Given the description of an element on the screen output the (x, y) to click on. 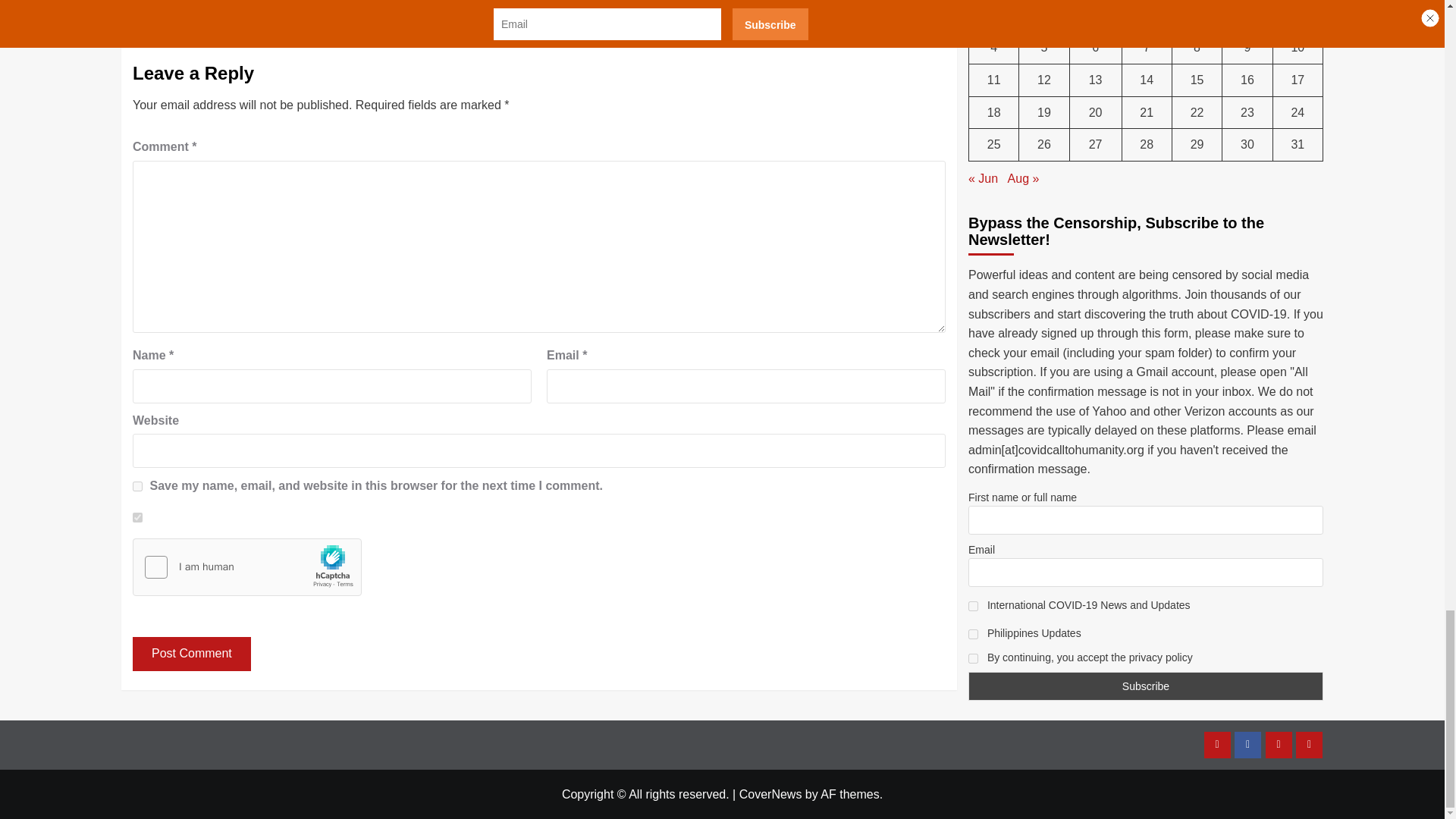
1 (137, 517)
Post Comment (191, 653)
Widget containing checkbox for hCaptcha security challenge (247, 567)
yes (137, 486)
